Given the description of an element on the screen output the (x, y) to click on. 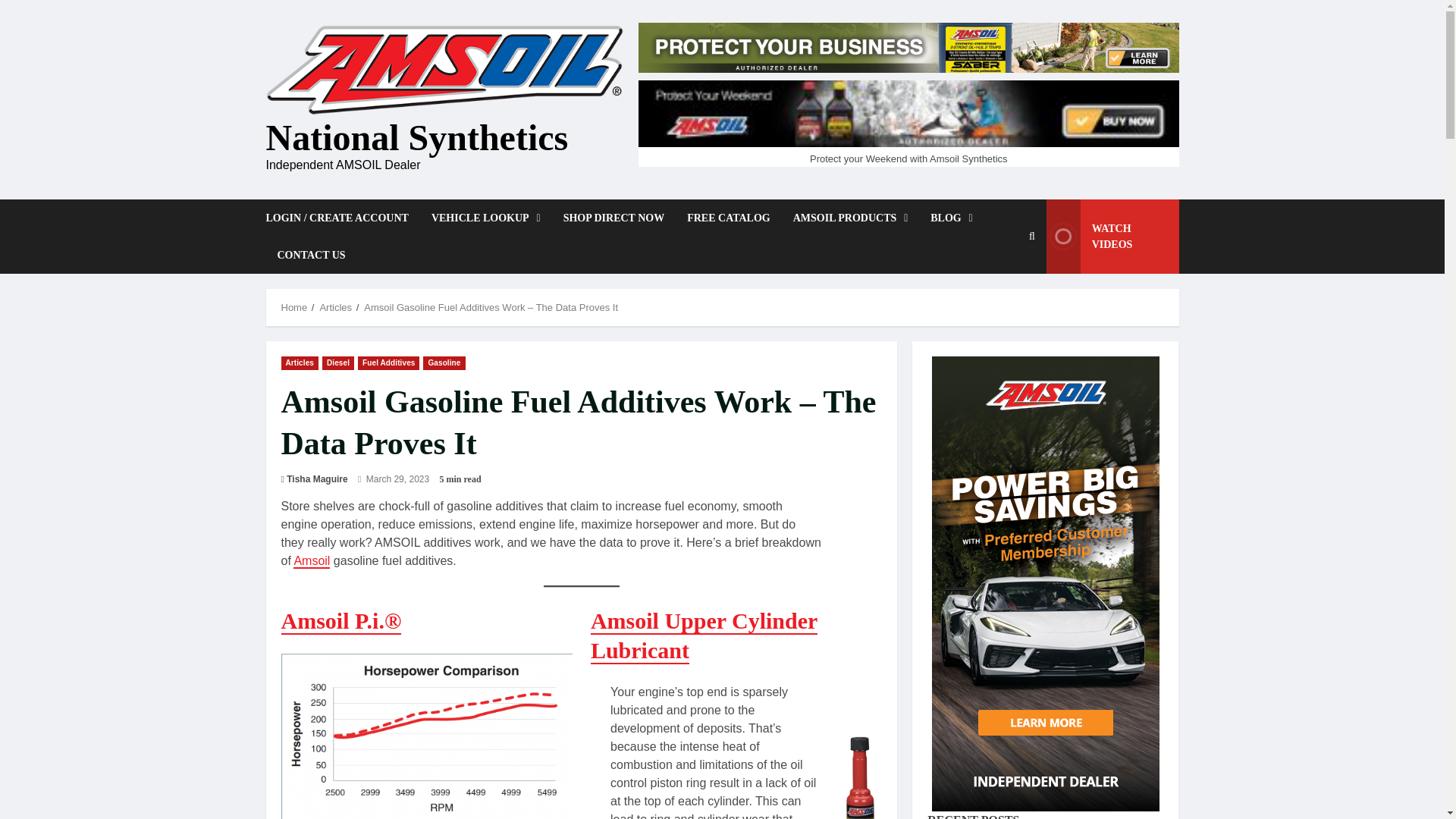
SHOP DIRECT NOW (614, 217)
Amsoil Upper Cylinder Lubricant UCL (703, 636)
Amsoil P.i. Performance Improver Gasoline Additive (341, 621)
WATCH VIDEOS (1112, 236)
BLOG (951, 217)
AMSOIL PRODUCTS (850, 217)
Search (996, 314)
CONTACT US (304, 254)
FREE CATALOG (728, 217)
Diesel (337, 363)
